Given the description of an element on the screen output the (x, y) to click on. 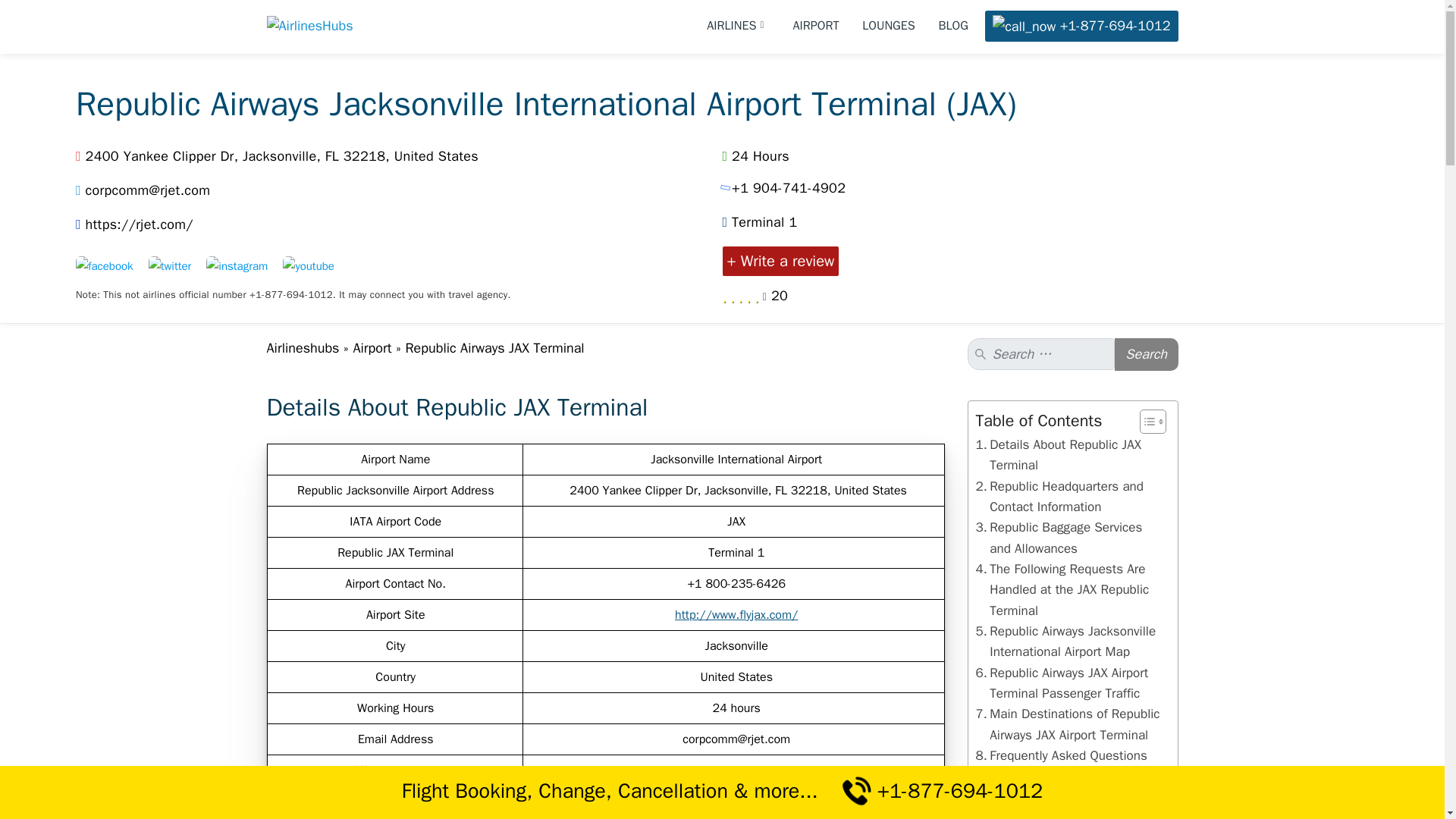
AIRPORT (816, 25)
AIRLINES (738, 25)
Search (1146, 354)
Search (1146, 354)
